Given the description of an element on the screen output the (x, y) to click on. 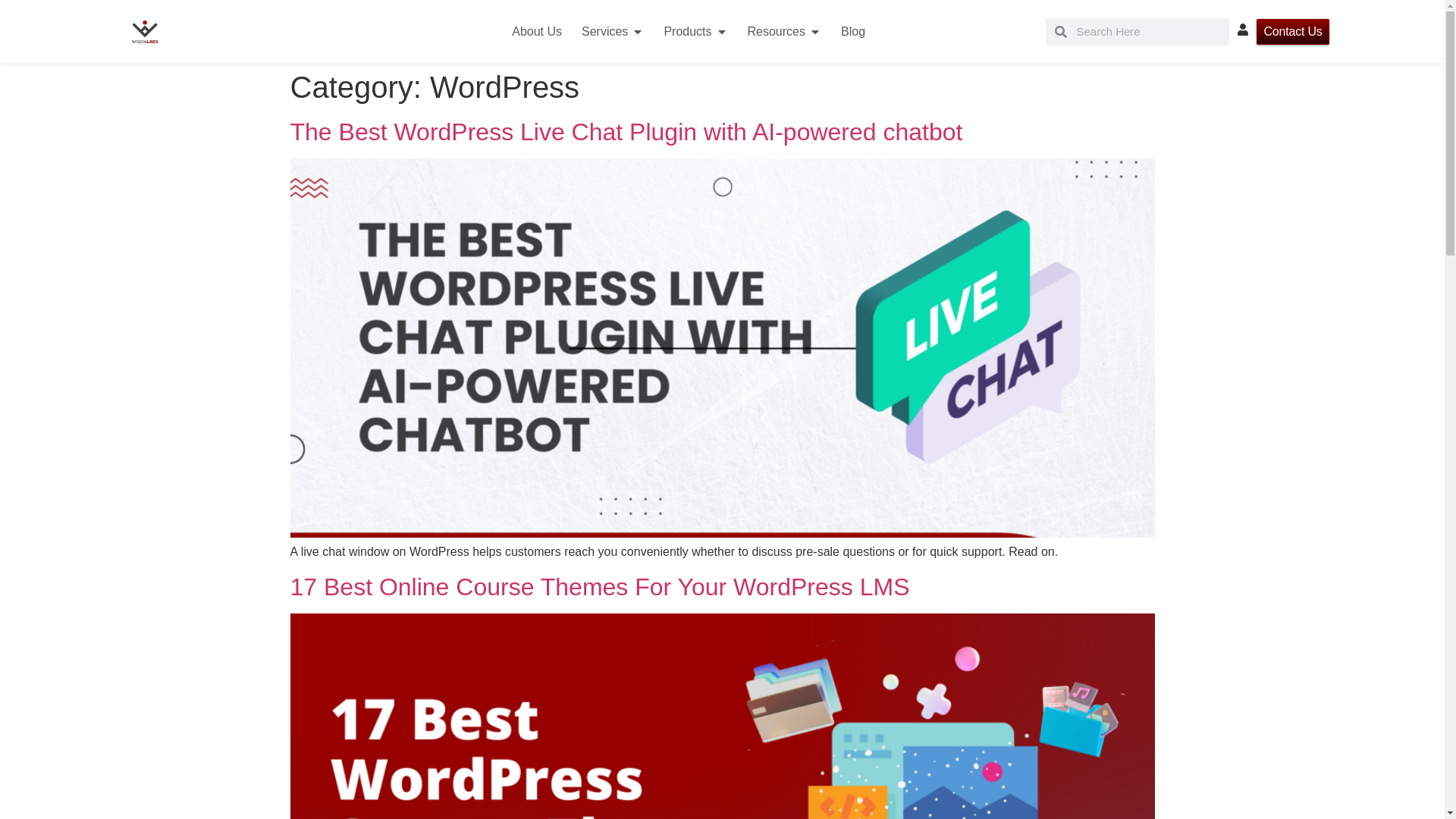
About Us (537, 31)
Services (603, 31)
Products (687, 31)
Resources (776, 31)
Blog (852, 31)
